Given the description of an element on the screen output the (x, y) to click on. 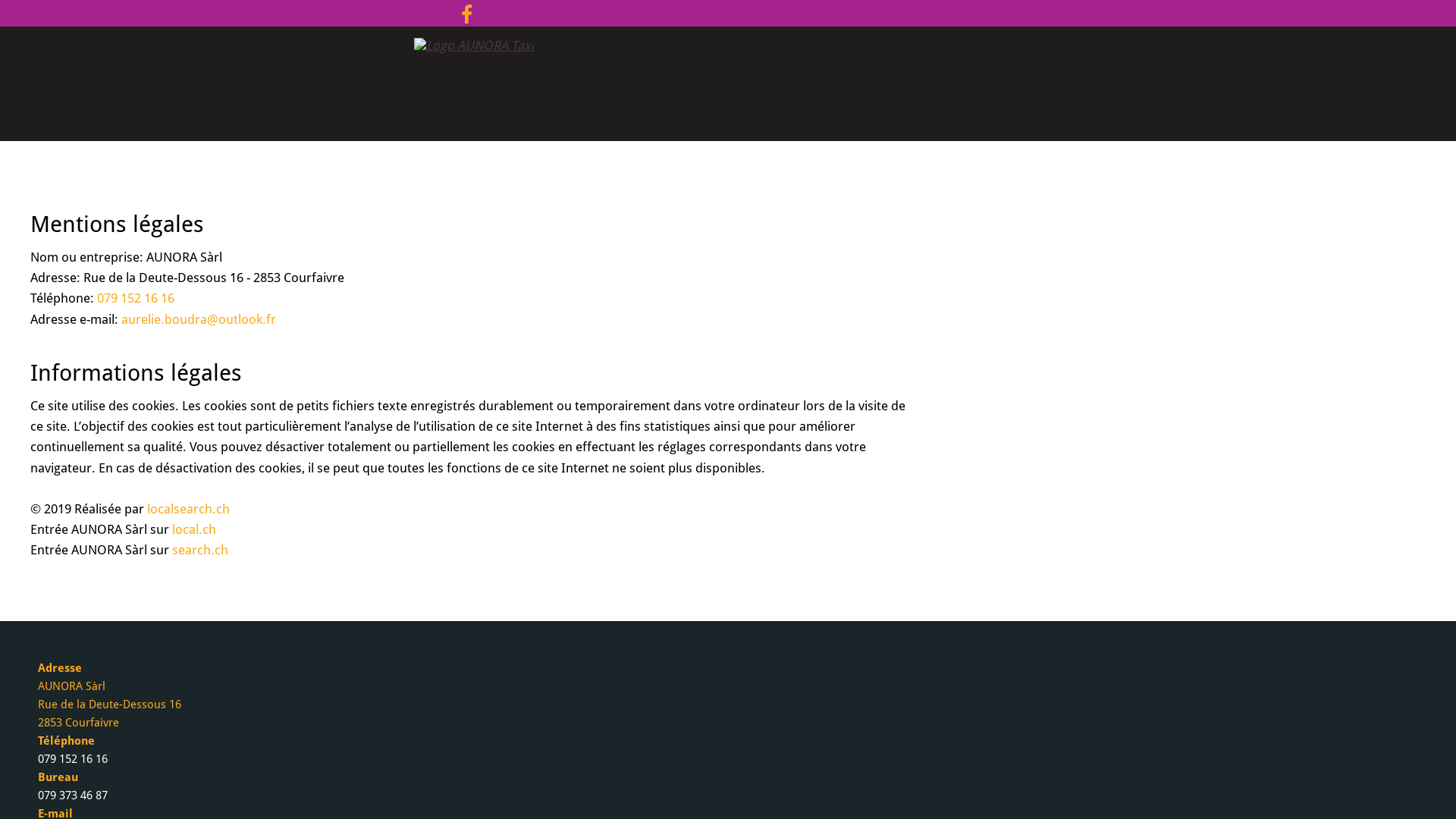
aurelie.boudra@outlook.fr Element type: text (198, 318)
079 152 16 16 Element type: text (72, 758)
search.ch Element type: text (200, 549)
079 152 16 16 Element type: text (135, 297)
localsearch.ch Element type: text (188, 508)
local.ch Element type: text (194, 528)
079 373 46 87 Element type: text (72, 795)
